Given the description of an element on the screen output the (x, y) to click on. 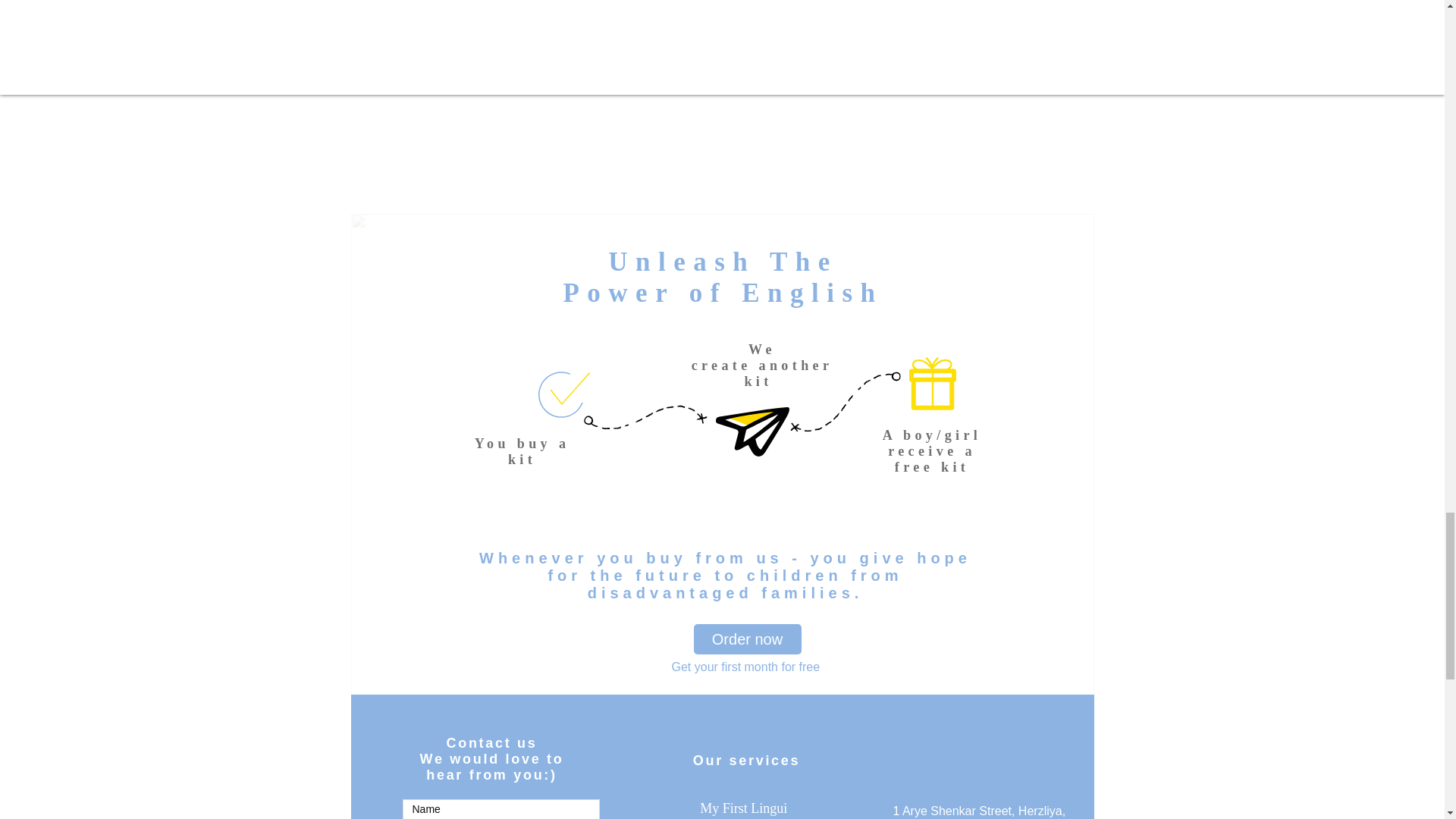
Get your first month for free (746, 666)
Order now (746, 639)
Read article (895, 67)
